Given the description of an element on the screen output the (x, y) to click on. 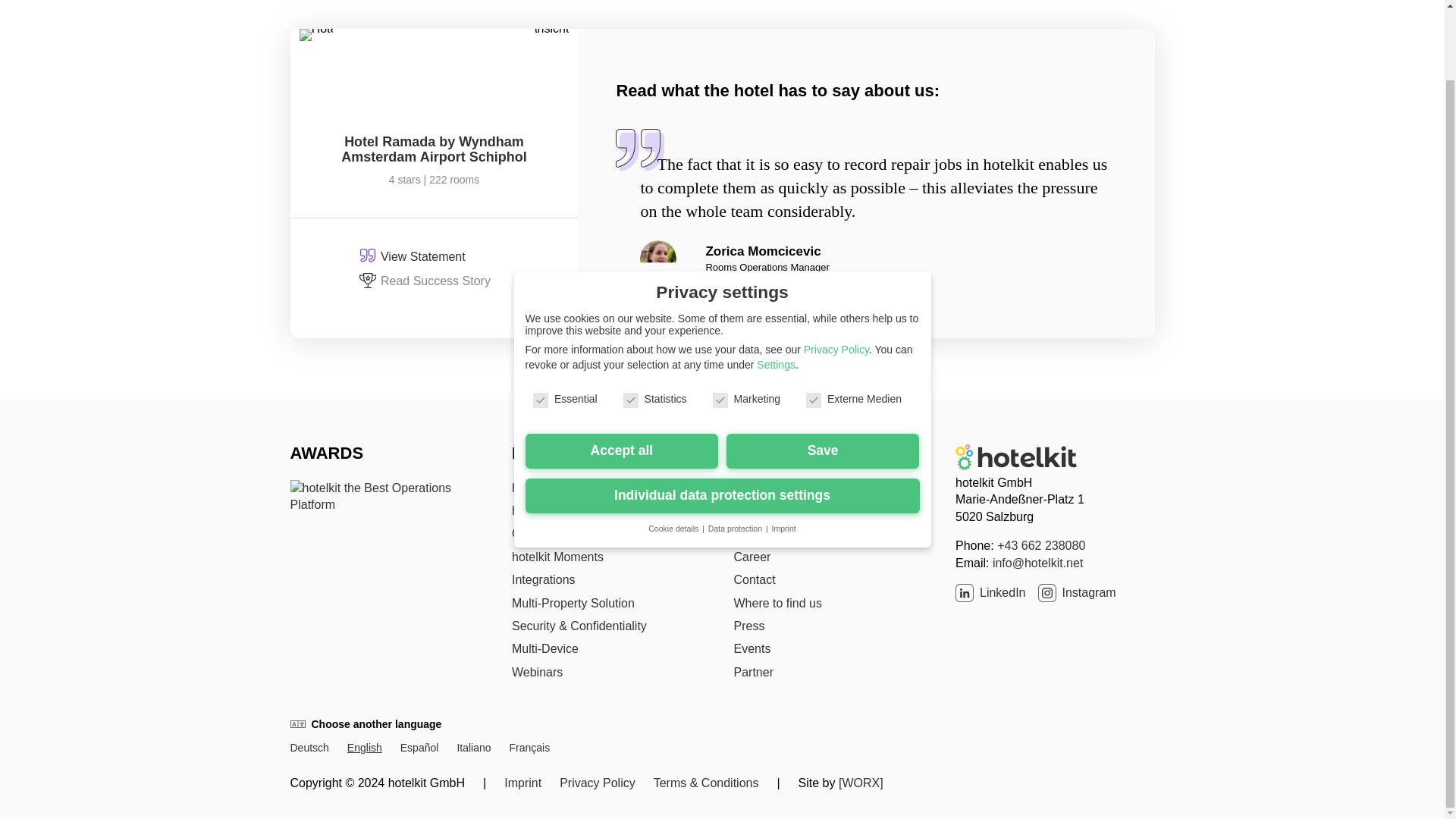
hotelkit Moments (558, 556)
Webinars (537, 671)
Chat (524, 533)
Hotel Ramada by Wyndham Amsterdam Airport Schiphol (432, 149)
Integrations (543, 579)
hotelkit Collaboration (568, 487)
Multi-Device (545, 648)
Multi-Property Solution (573, 603)
hotelkit Housekeeping (571, 510)
